Given the description of an element on the screen output the (x, y) to click on. 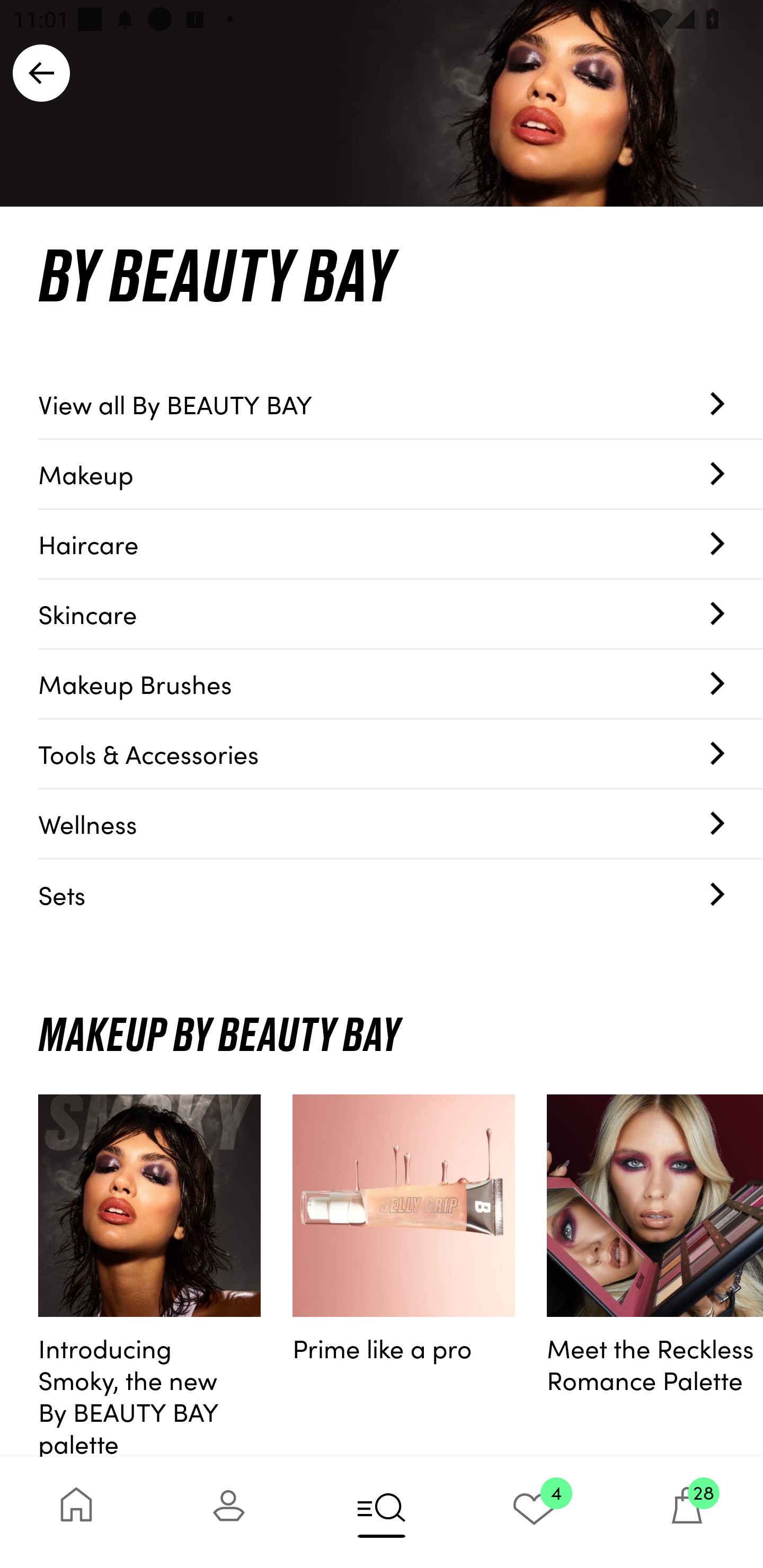
View all By BEAUTY BAY  (400, 404)
Makeup (400, 474)
Haircare (400, 544)
Skincare (400, 614)
Makeup Brushes (400, 684)
Tools & Accessories (400, 753)
Wellness (400, 823)
Sets (400, 894)
Introducing Smoky, the new By BEAUTY BAY palette (149, 1275)
Prime like a pro (403, 1275)
Meet the Reckless Romance Palette (655, 1275)
4 (533, 1512)
28 (686, 1512)
